Given the description of an element on the screen output the (x, y) to click on. 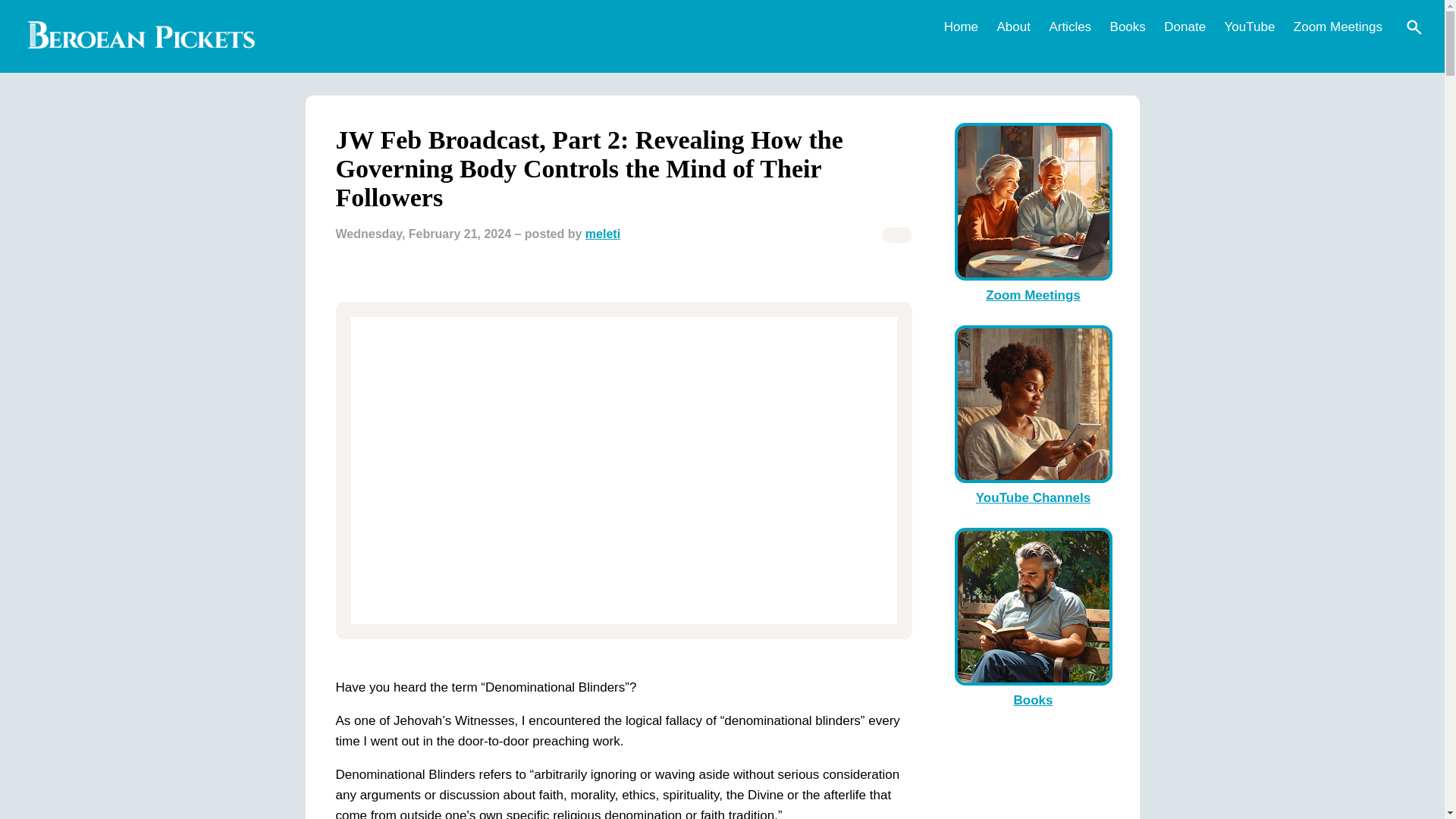
Articles (1070, 26)
Books (1127, 26)
About (1012, 26)
Wednesday, February 21, 2024 (422, 233)
Zoom Meetings (1337, 26)
meleti (602, 233)
Home (960, 26)
YouTube (1249, 26)
Donate (1184, 26)
